Given the description of an element on the screen output the (x, y) to click on. 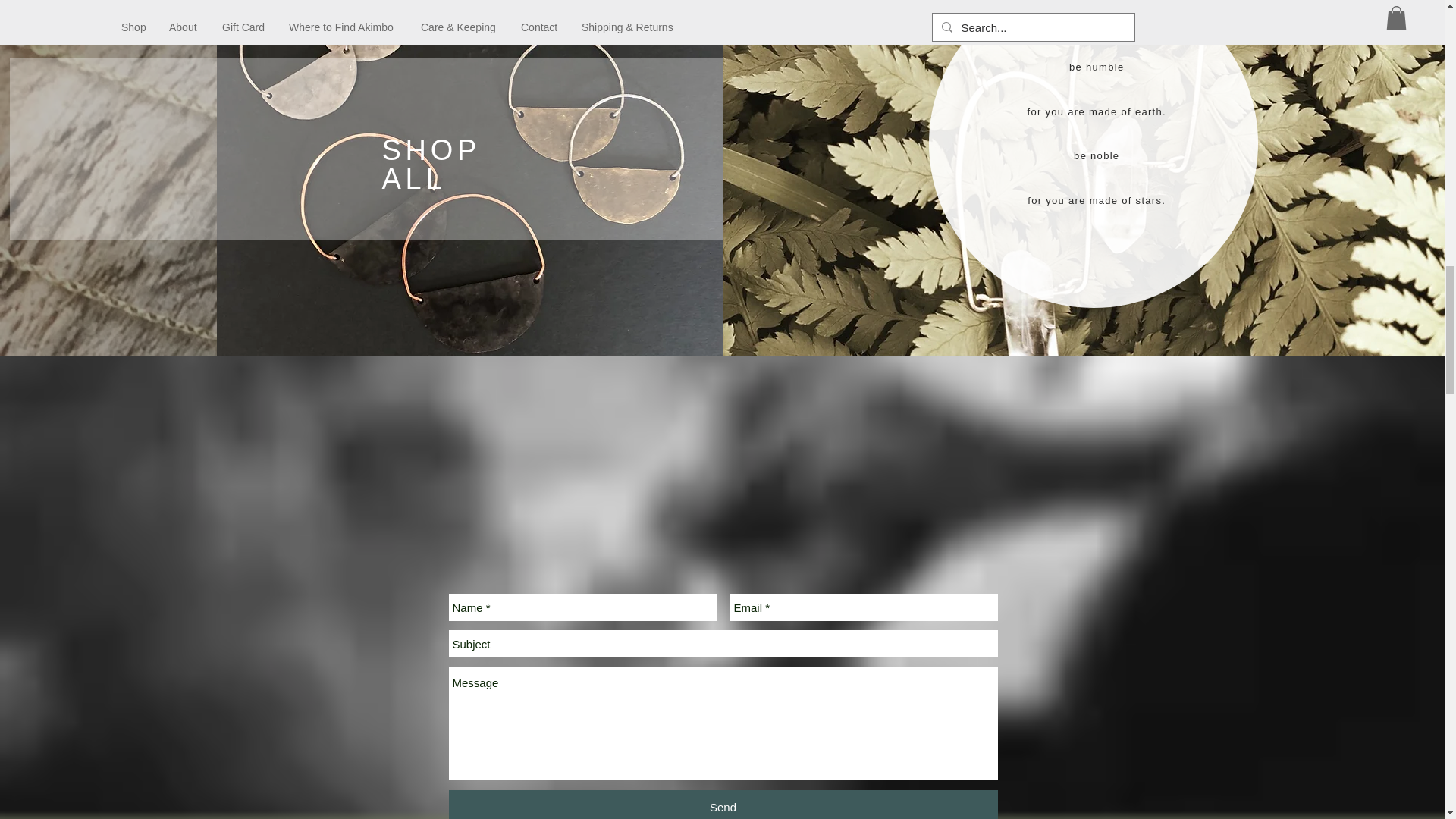
Send (722, 804)
